Given the description of an element on the screen output the (x, y) to click on. 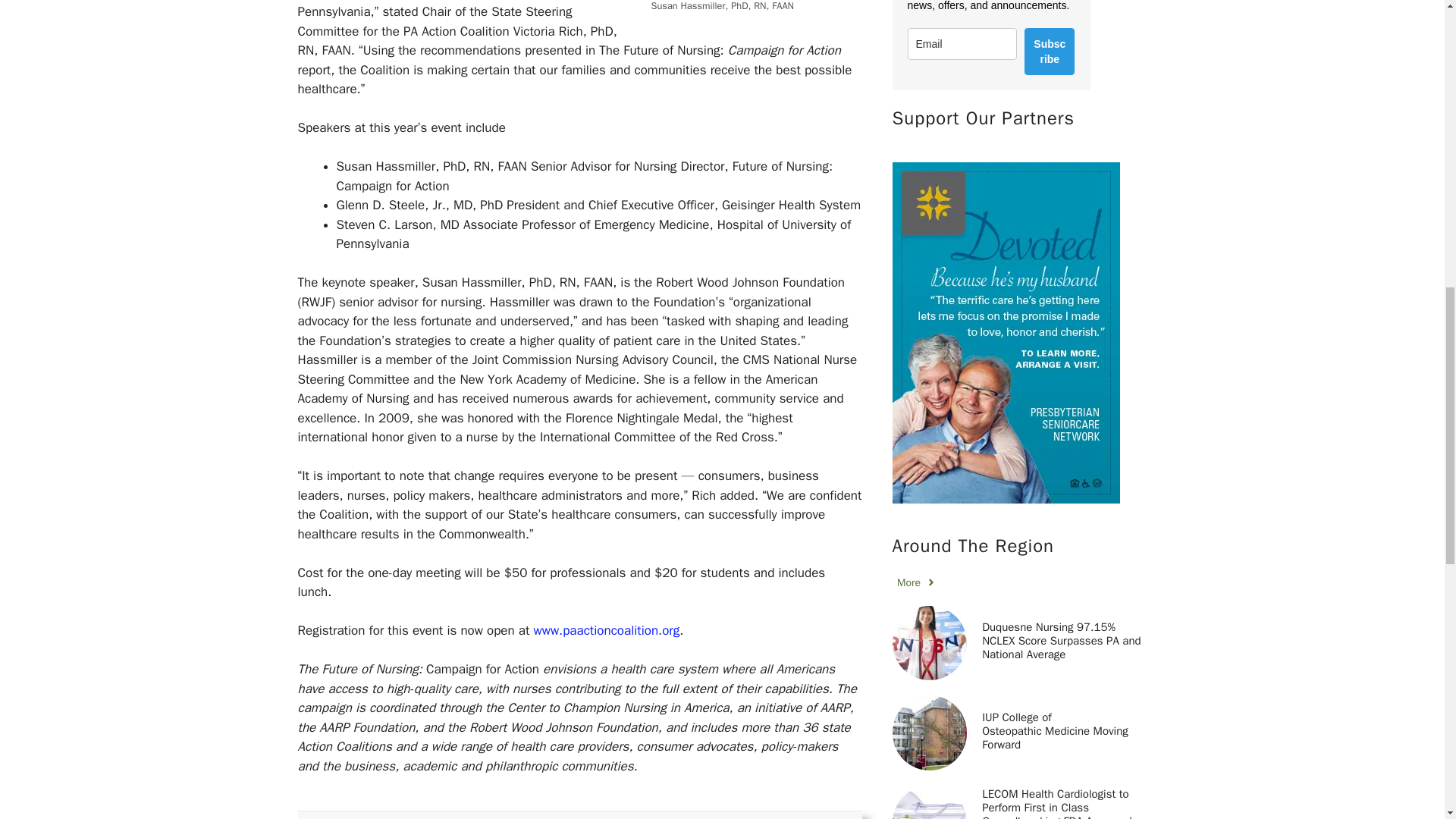
www.paactioncoalition.org (605, 630)
